Given the description of an element on the screen output the (x, y) to click on. 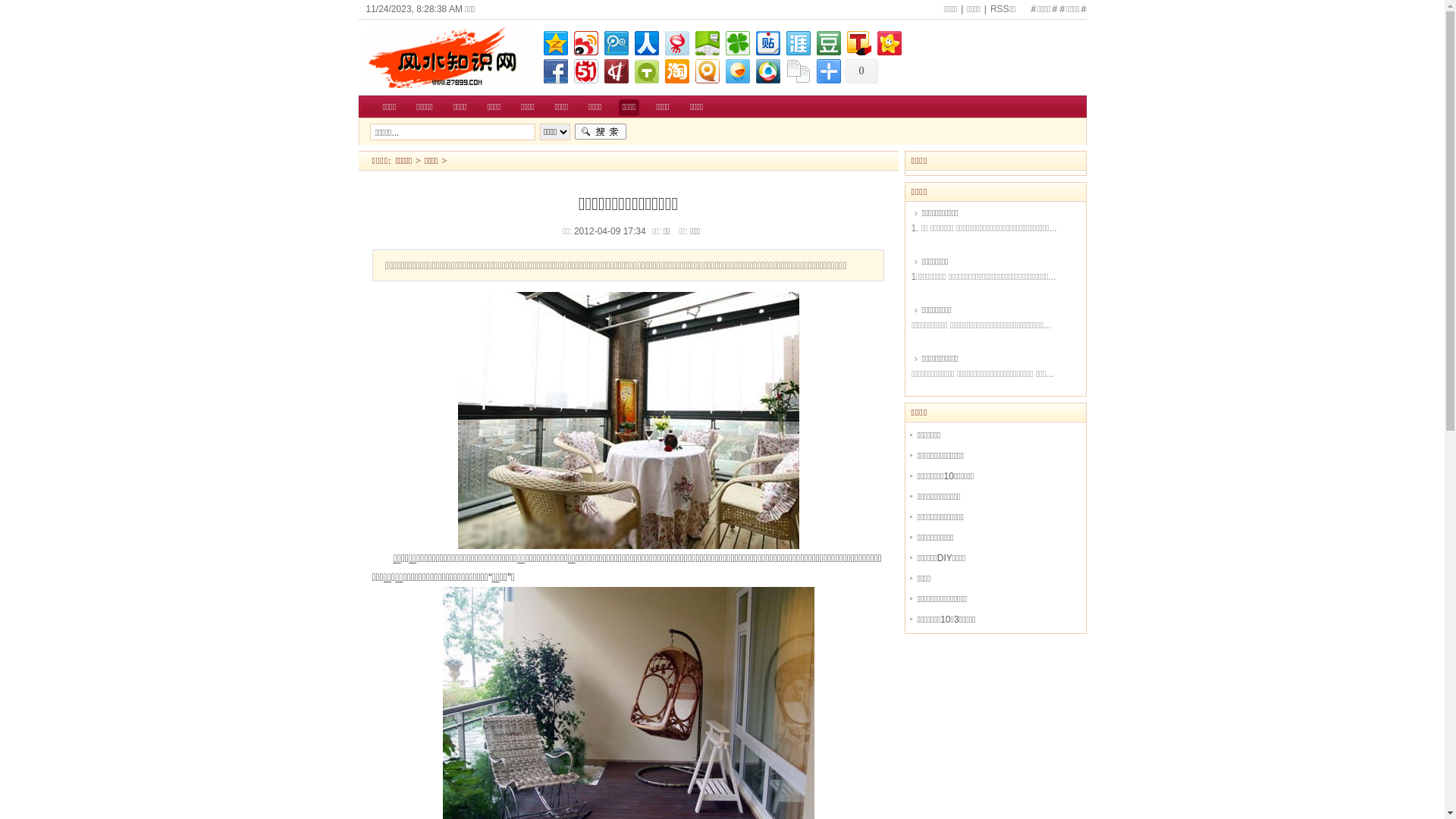
0 Element type: text (859, 71)
